Given the description of an element on the screen output the (x, y) to click on. 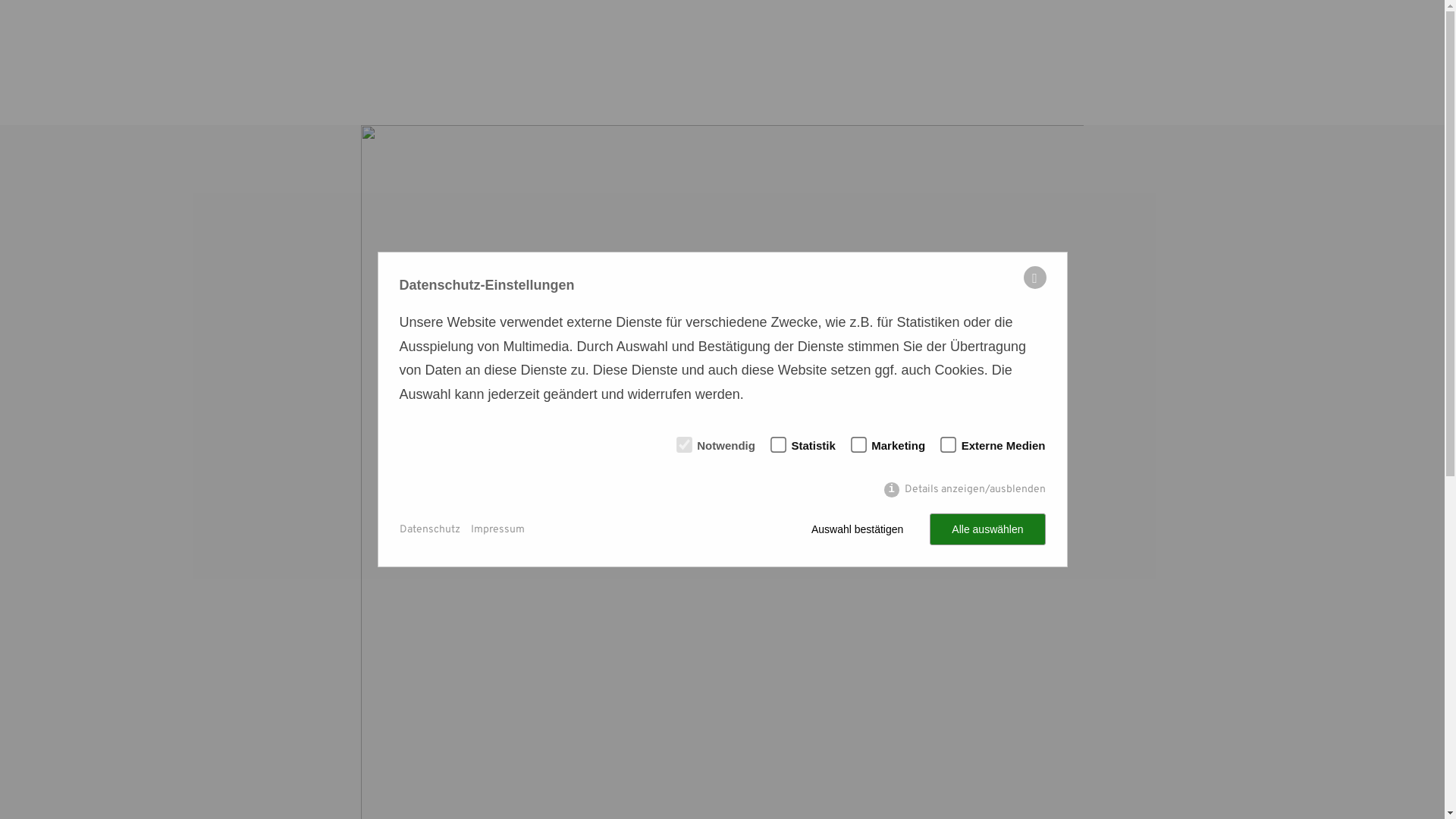
Datenschutz Element type: text (428, 529)
Impressum Element type: text (497, 529)
Details anzeigen/ausblenden Element type: text (964, 489)
